Given the description of an element on the screen output the (x, y) to click on. 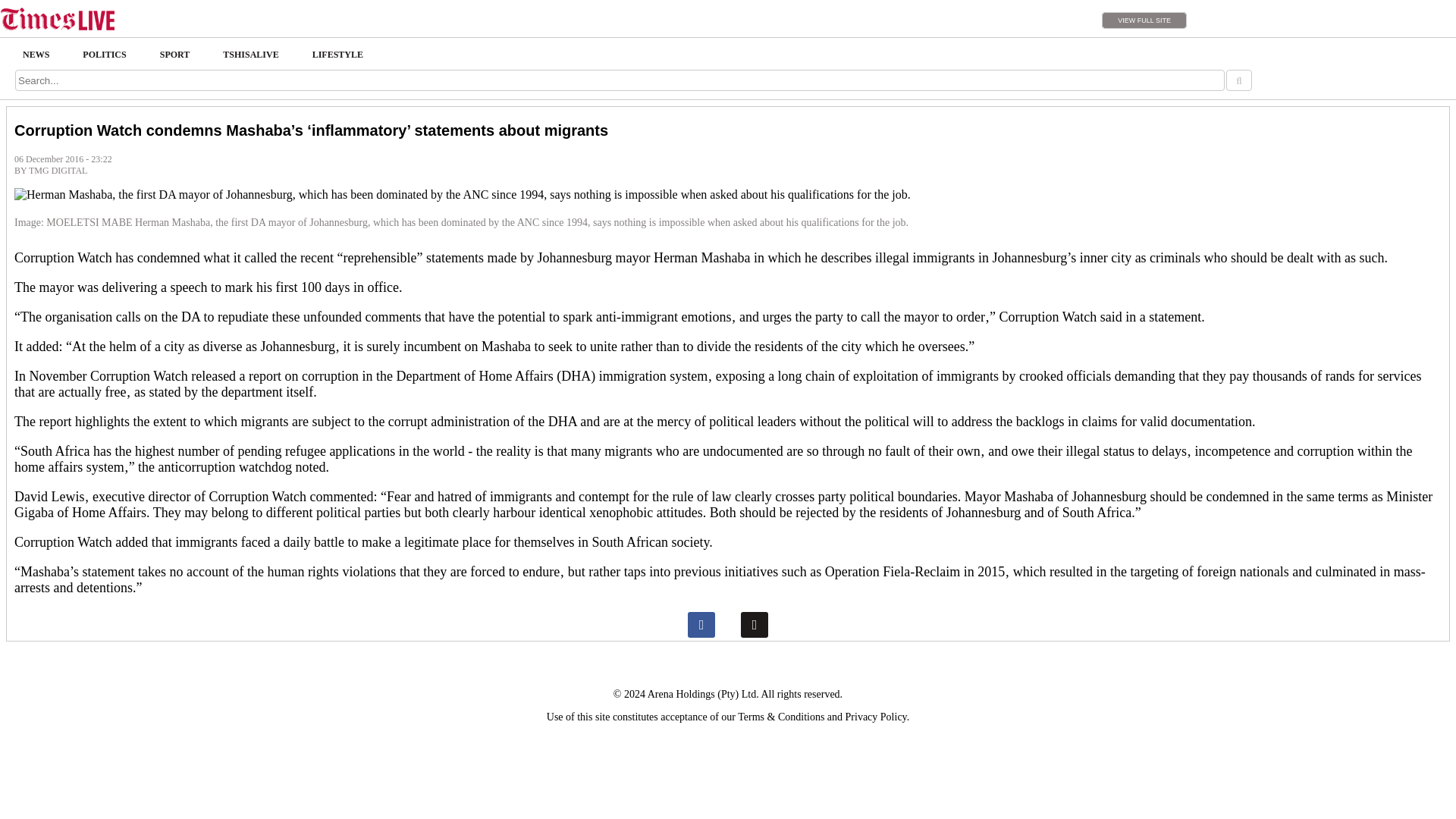
search (1237, 79)
VIEW FULL SITE (1144, 20)
TSHISALIVE (251, 54)
NEWS (35, 54)
POLITICS (103, 54)
LIFESTYLE (337, 54)
SPORT (174, 54)
